Given the description of an element on the screen output the (x, y) to click on. 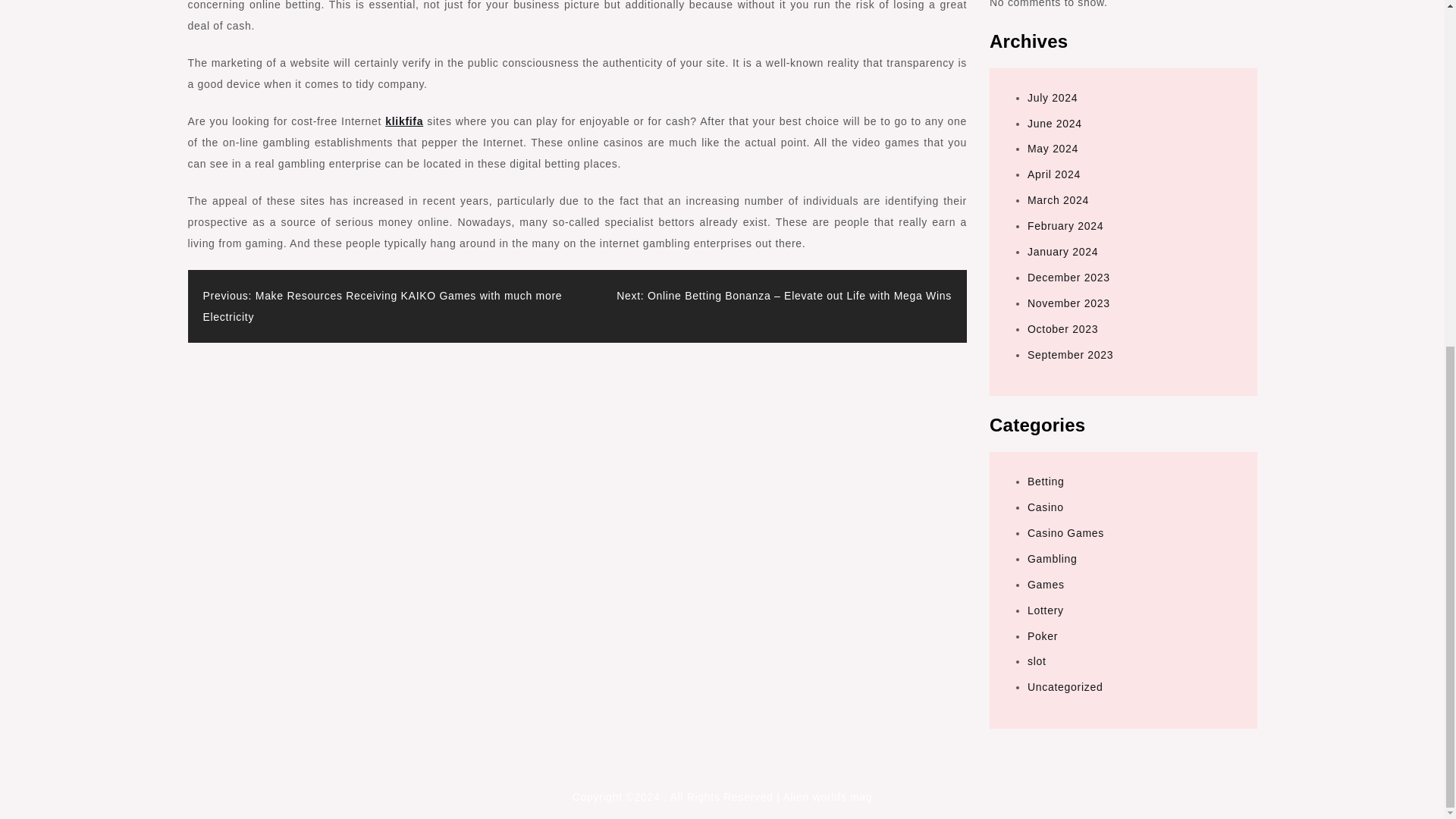
September 2023 (1070, 354)
slot (1036, 661)
November 2023 (1068, 303)
Games (1045, 584)
March 2024 (1058, 200)
klikfifa (404, 121)
Betting (1045, 481)
January 2024 (1062, 251)
Lottery (1045, 610)
Casino Games (1065, 532)
